Given the description of an element on the screen output the (x, y) to click on. 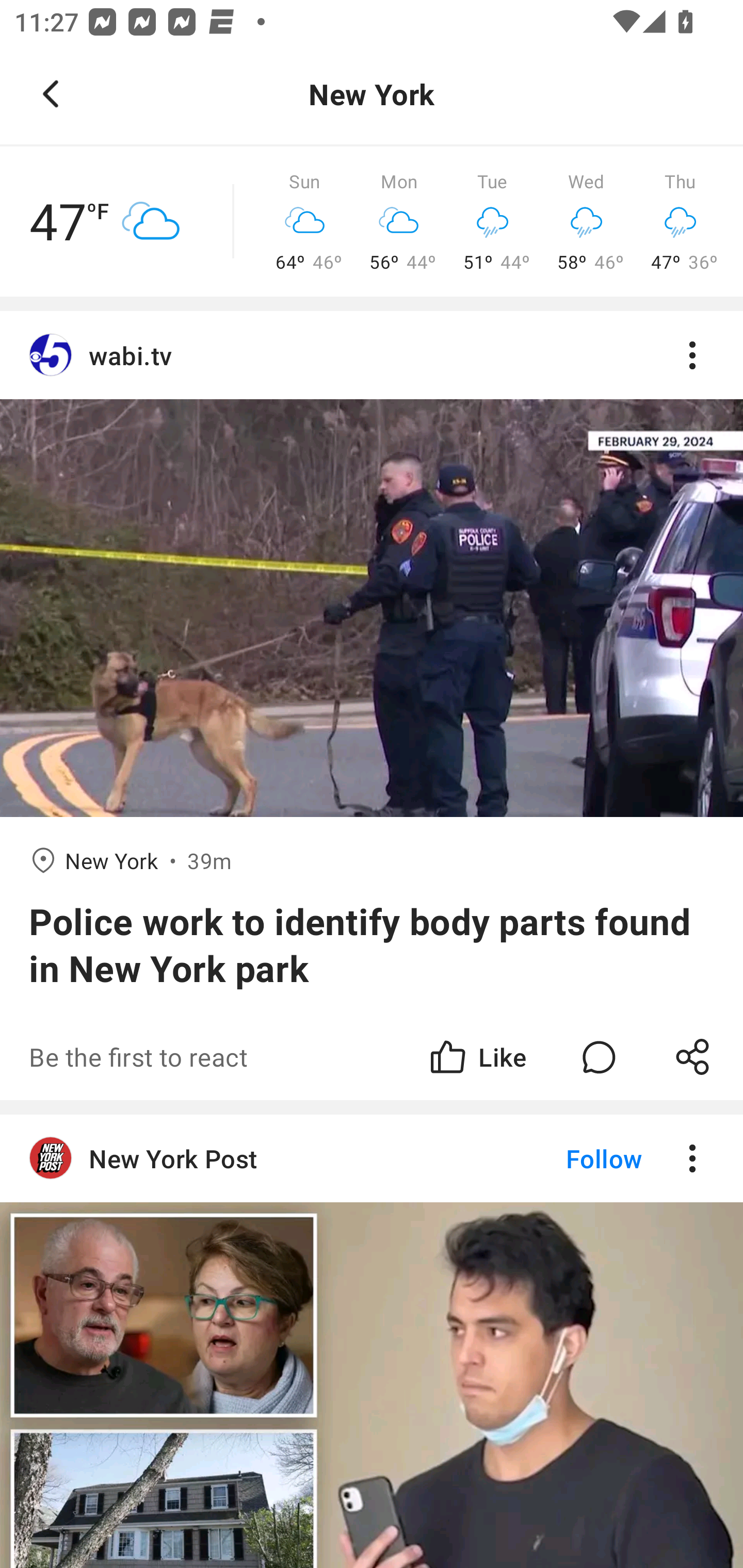
Navigate up (50, 93)
Sun 64º 46º (304, 221)
Mon 56º 44º (398, 221)
Tue 51º 44º (492, 221)
Wed 58º 46º (586, 221)
Thu 47º 36º (680, 221)
wabi.tv (371, 355)
Be the first to react (244, 1056)
Like (476, 1056)
New York Post Follow (371, 1341)
New York Post Follow (371, 1158)
Follow (569, 1158)
